Given the description of an element on the screen output the (x, y) to click on. 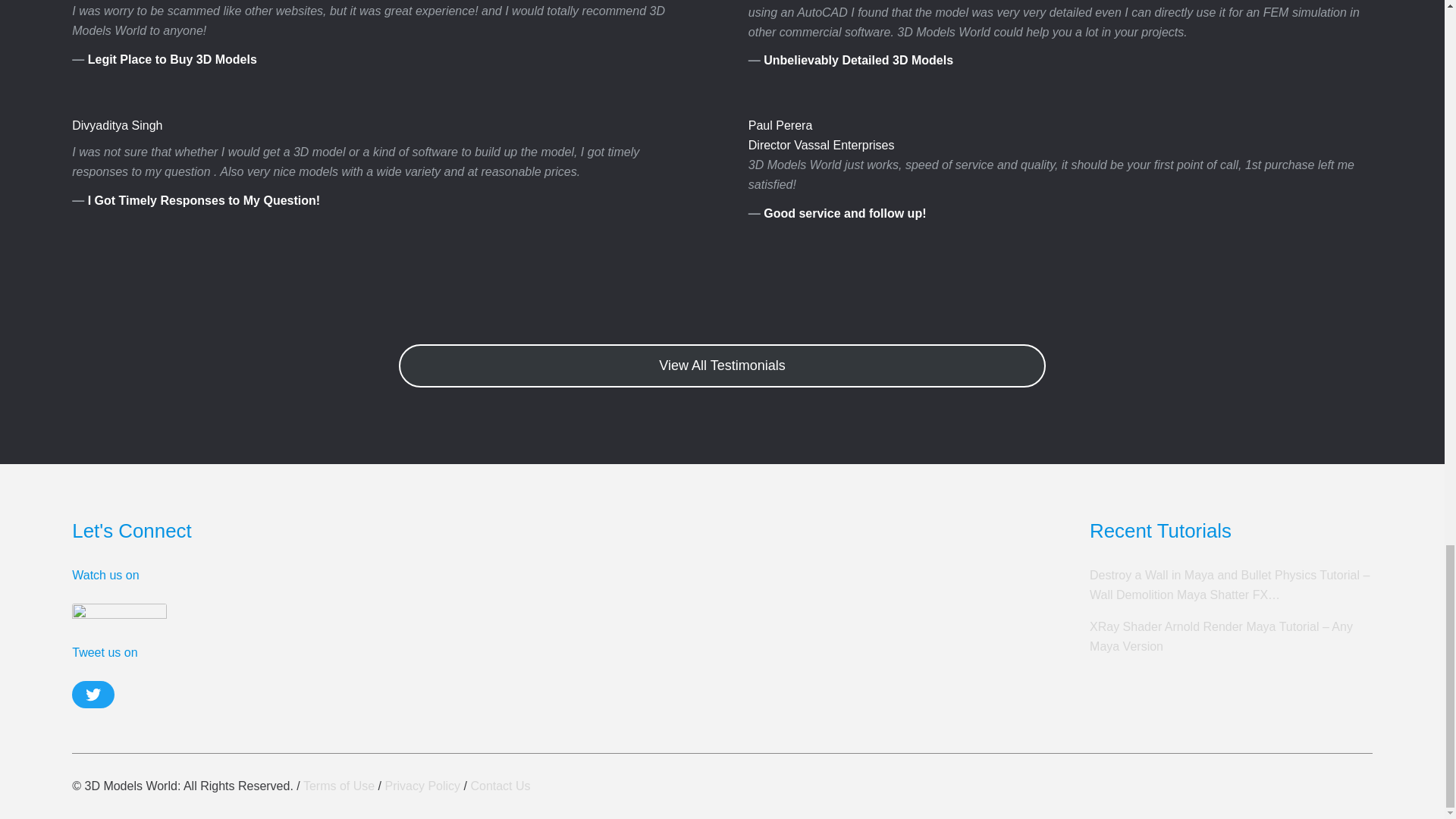
I Got Timely Responses to My Question! (203, 200)
Good service and follow up! (844, 213)
View All Testimonials (721, 365)
I Got Timely Responses to My Question! (203, 200)
Legit Place to Buy 3D Models (172, 59)
Good service and follow up! (844, 213)
Legit Place to Buy 3D Models (172, 59)
Unbelievably Detailed 3D Models (857, 60)
Unbelievably Detailed 3D Models (857, 60)
